Given the description of an element on the screen output the (x, y) to click on. 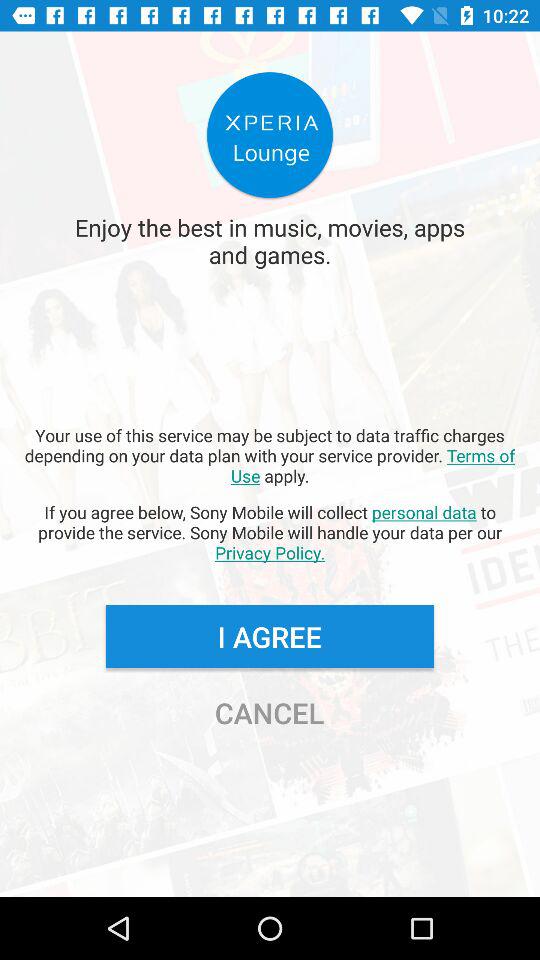
turn off the item below the if you agree icon (269, 636)
